Given the description of an element on the screen output the (x, y) to click on. 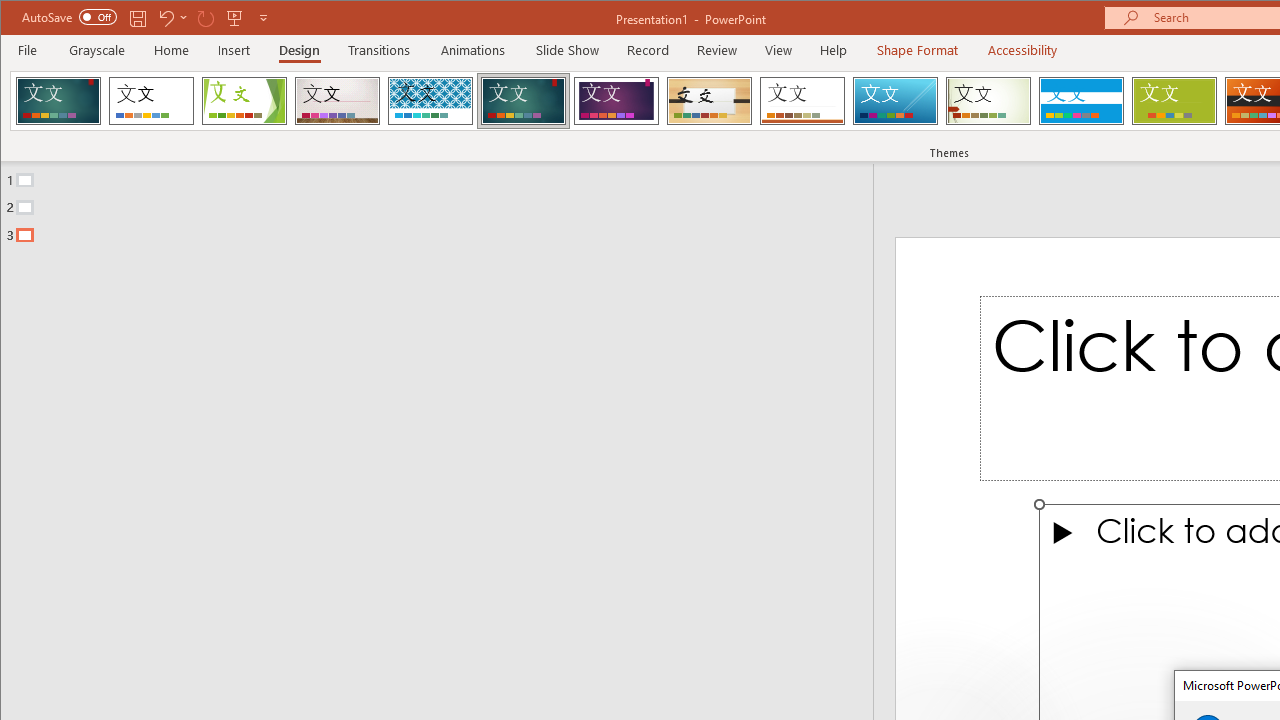
Dividend (57, 100)
Outline (445, 203)
Wisp (988, 100)
Integral (430, 100)
Grayscale (97, 50)
